Given the description of an element on the screen output the (x, y) to click on. 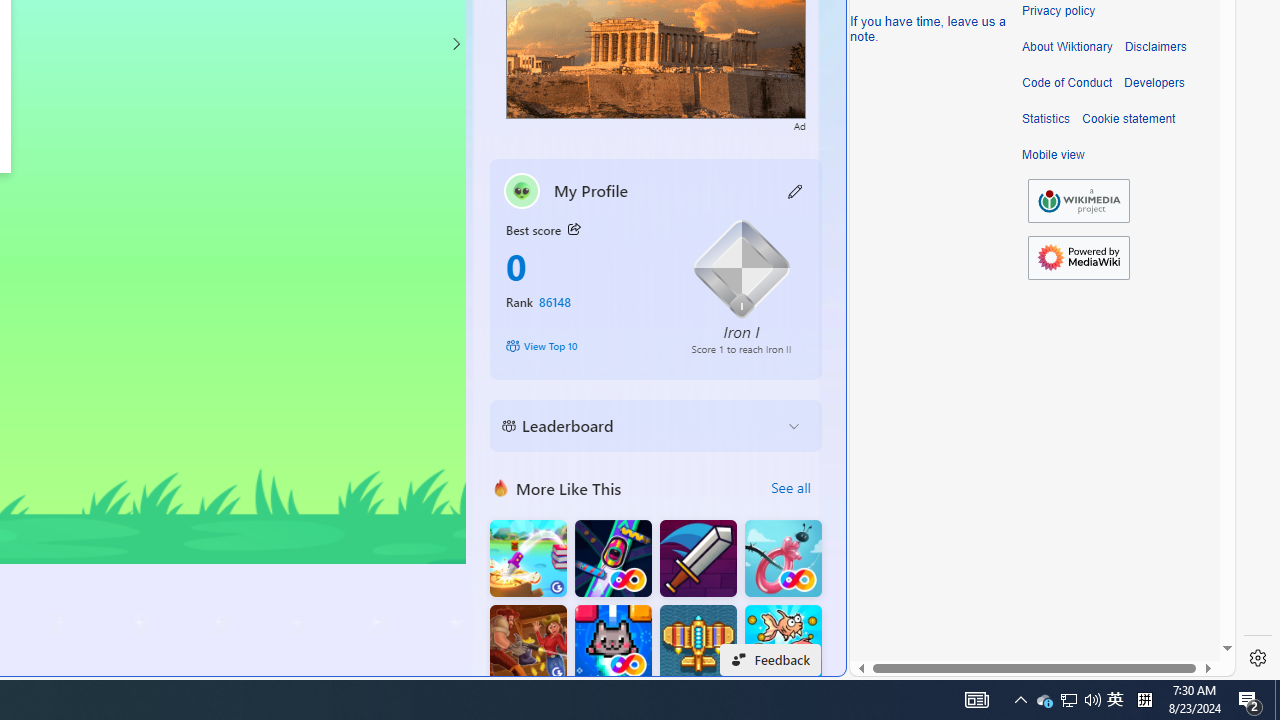
Statistics (1046, 119)
Fish Merge FRVR (783, 643)
See all (790, 487)
More Like This (501, 487)
AutomationID: footer-copyrightico (1078, 200)
google_privacy_policy_zh-CN.pdf (687, 482)
Balloon FRVR (783, 558)
